Given the description of an element on the screen output the (x, y) to click on. 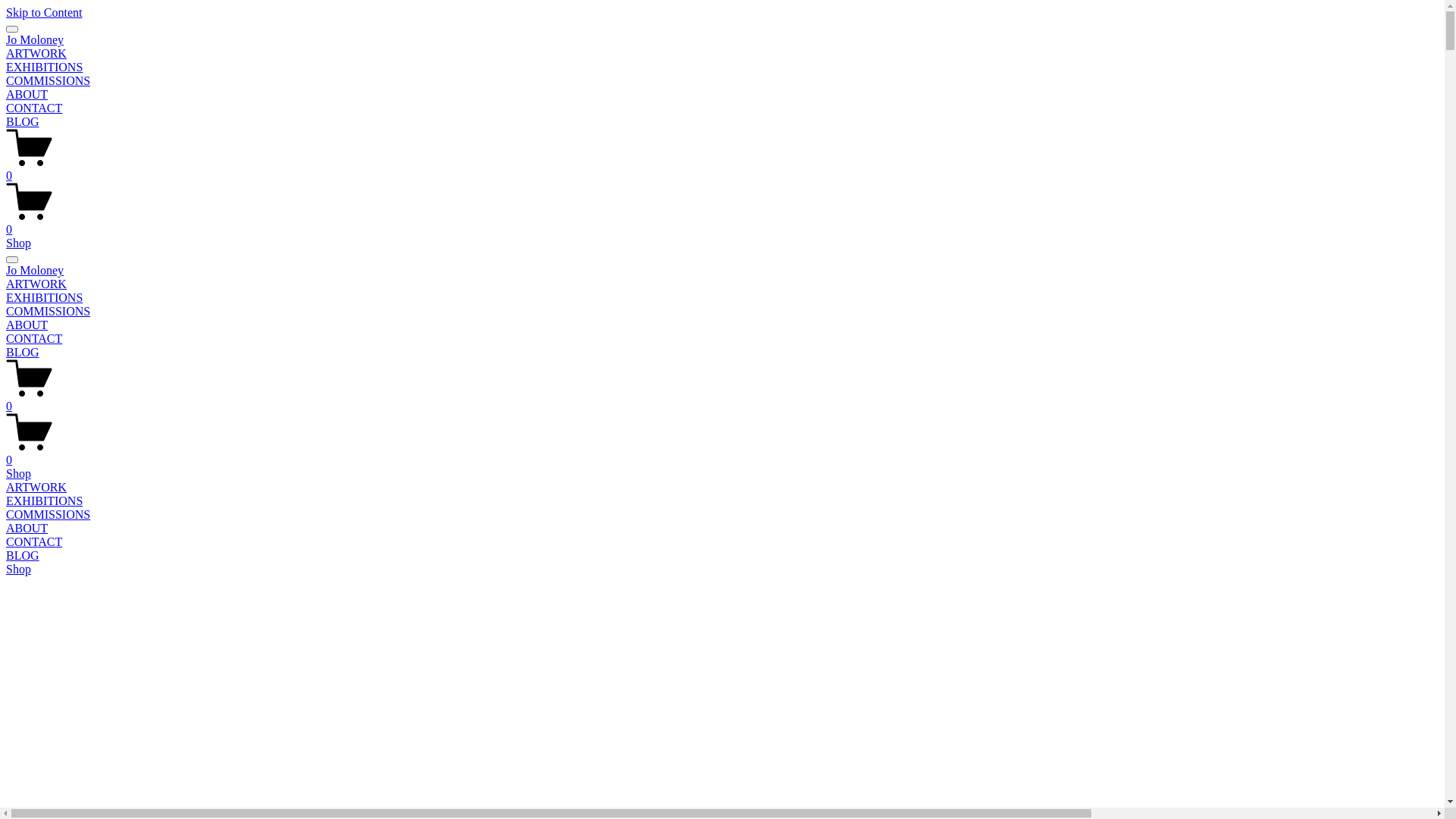
EXHIBITIONS Element type: text (722, 501)
COMMISSIONS Element type: text (722, 514)
EXHIBITIONS Element type: text (44, 66)
Jo Moloney Element type: text (34, 39)
0 Element type: text (722, 399)
0 Element type: text (722, 168)
ARTWORK Element type: text (36, 53)
ABOUT Element type: text (722, 528)
Shop Element type: text (18, 242)
ARTWORK Element type: text (36, 283)
BLOG Element type: text (22, 351)
Shop Element type: text (18, 473)
CONTACT Element type: text (34, 338)
0 Element type: text (722, 222)
BLOG Element type: text (722, 555)
EXHIBITIONS Element type: text (44, 297)
COMMISSIONS Element type: text (48, 310)
COMMISSIONS Element type: text (48, 80)
Shop Element type: text (18, 568)
0 Element type: text (722, 453)
CONTACT Element type: text (722, 542)
BLOG Element type: text (22, 121)
CONTACT Element type: text (34, 107)
Skip to Content Element type: text (43, 12)
ABOUT Element type: text (26, 93)
Jo Moloney Element type: text (34, 269)
ARTWORK Element type: text (722, 487)
ABOUT Element type: text (26, 324)
